Given the description of an element on the screen output the (x, y) to click on. 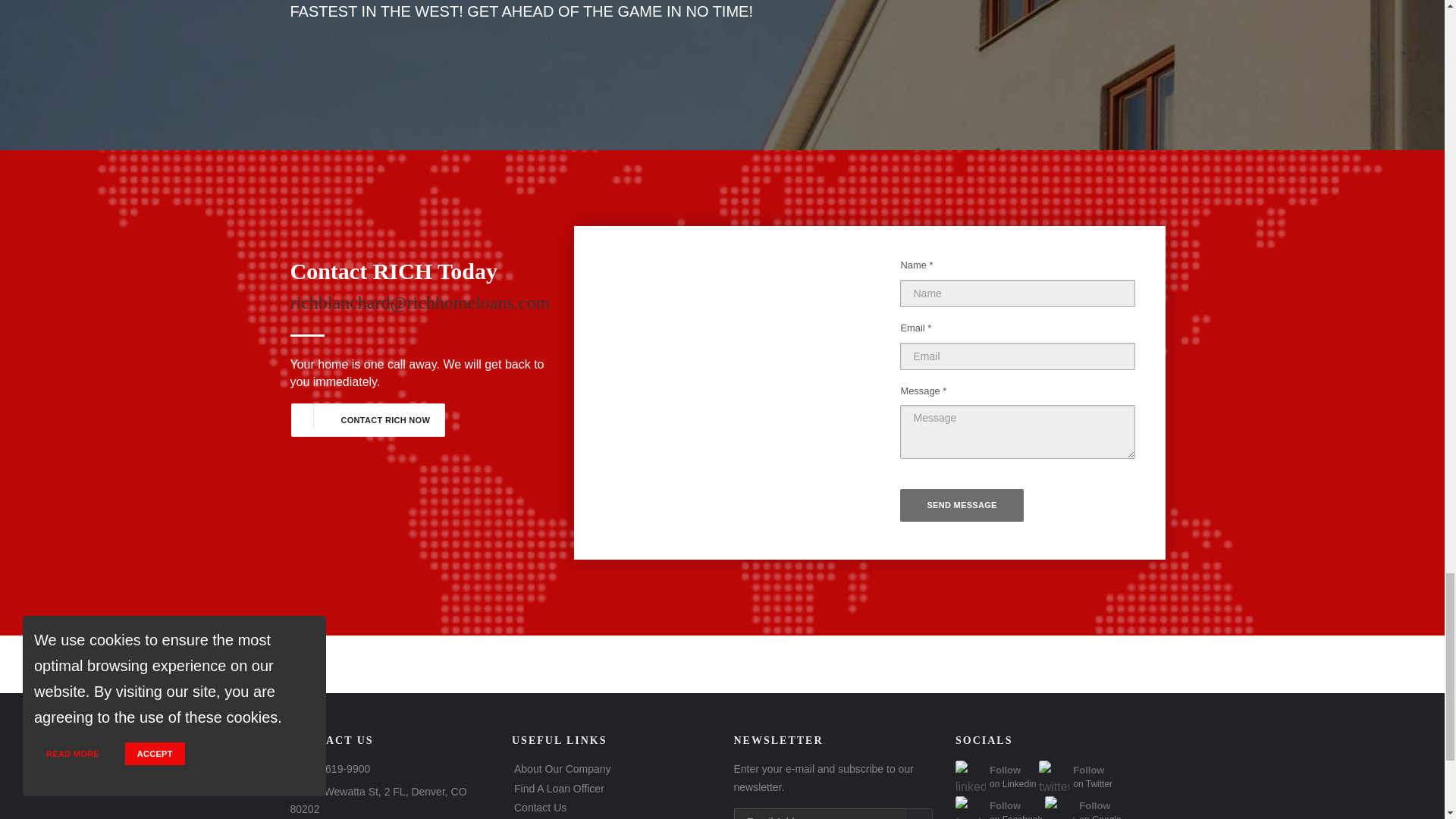
About Our Company (562, 768)
CONTACT RICH NOW (998, 816)
Contact Us (1083, 816)
SEND MESSAGE (995, 785)
Find A Loan Officer (367, 419)
